Given the description of an element on the screen output the (x, y) to click on. 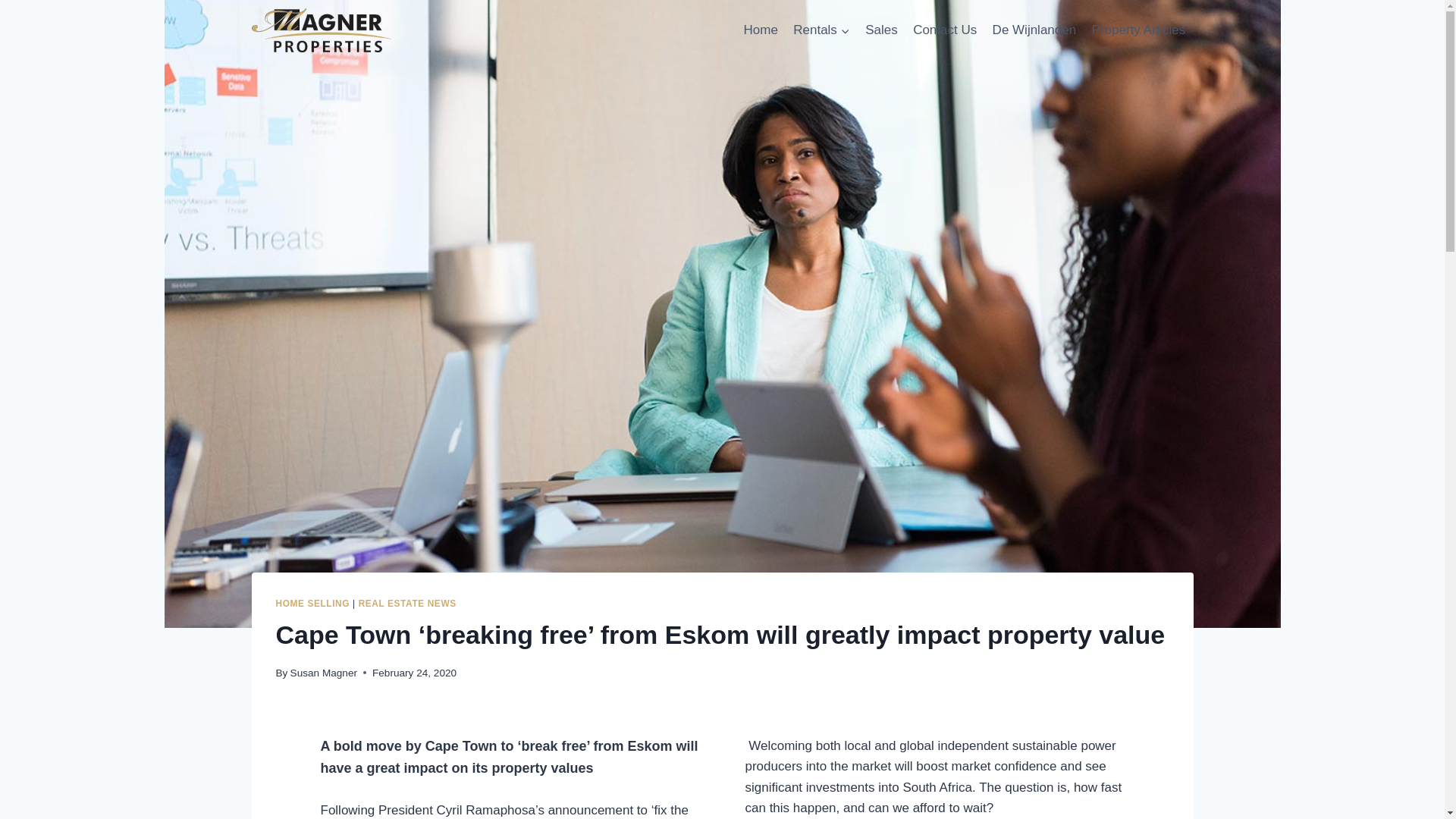
REAL ESTATE NEWS (407, 603)
HOME SELLING (313, 603)
Susan Magner (322, 672)
Rentals (821, 30)
Property Articles (1137, 30)
Home (760, 30)
De Wijnlanden (1033, 30)
Contact Us (944, 30)
Sales (881, 30)
